Given the description of an element on the screen output the (x, y) to click on. 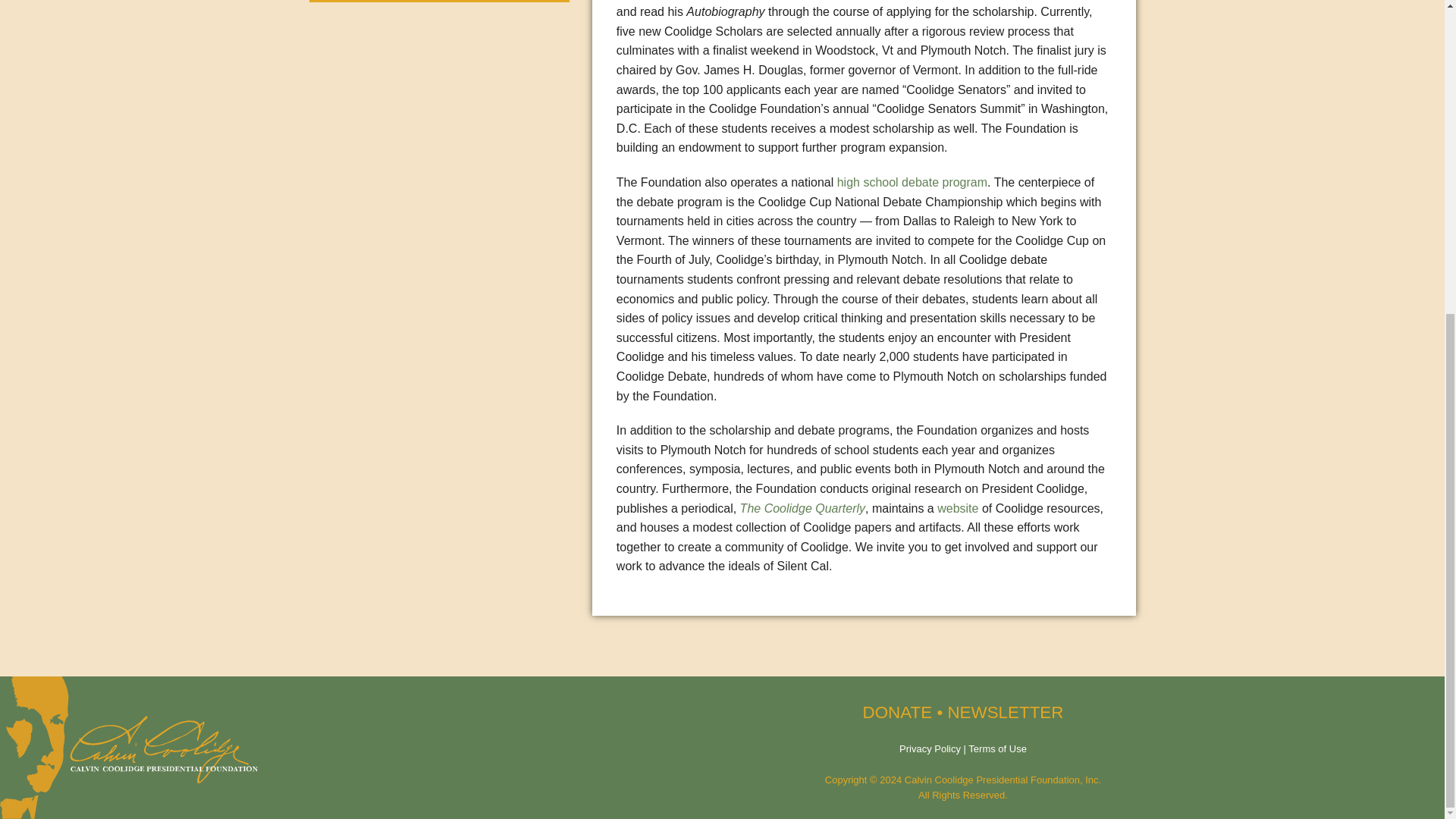
Terms of Use (997, 748)
The Coolidge Quarterly (801, 508)
Privacy Policy (929, 748)
website (957, 508)
high school debate program (912, 182)
NEWSLETTER (1004, 711)
